Given the description of an element on the screen output the (x, y) to click on. 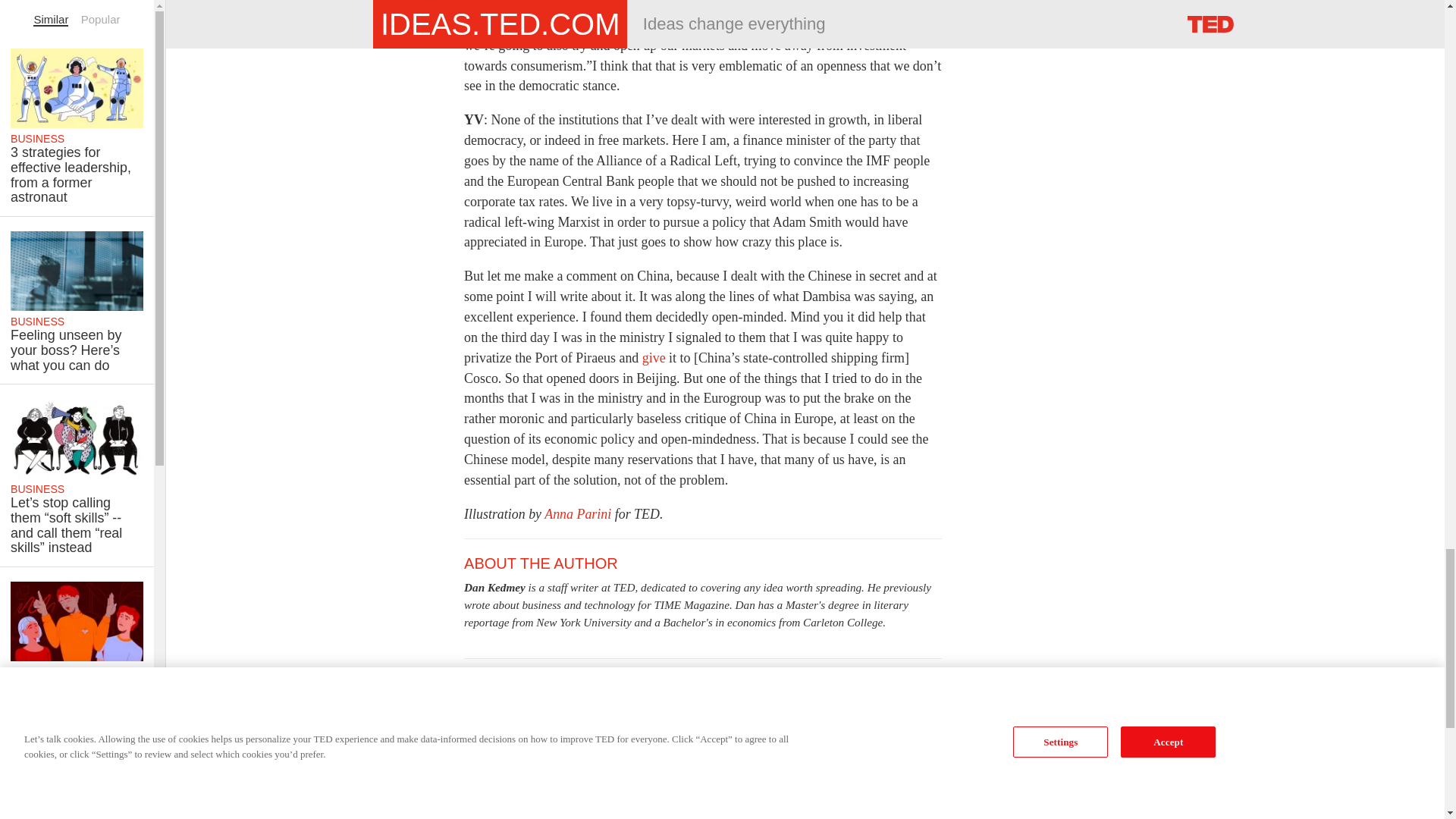
give (653, 357)
blog (480, 684)
financial crisis (888, 684)
Anna Parini (579, 513)
capitalism (530, 684)
Dan Kedmey (494, 586)
economics (738, 684)
Yanis Varoufakis (698, 706)
Euro crisis (809, 684)
Dambisa Moyo (656, 684)
socialism (493, 706)
China (587, 684)
